Given the description of an element on the screen output the (x, y) to click on. 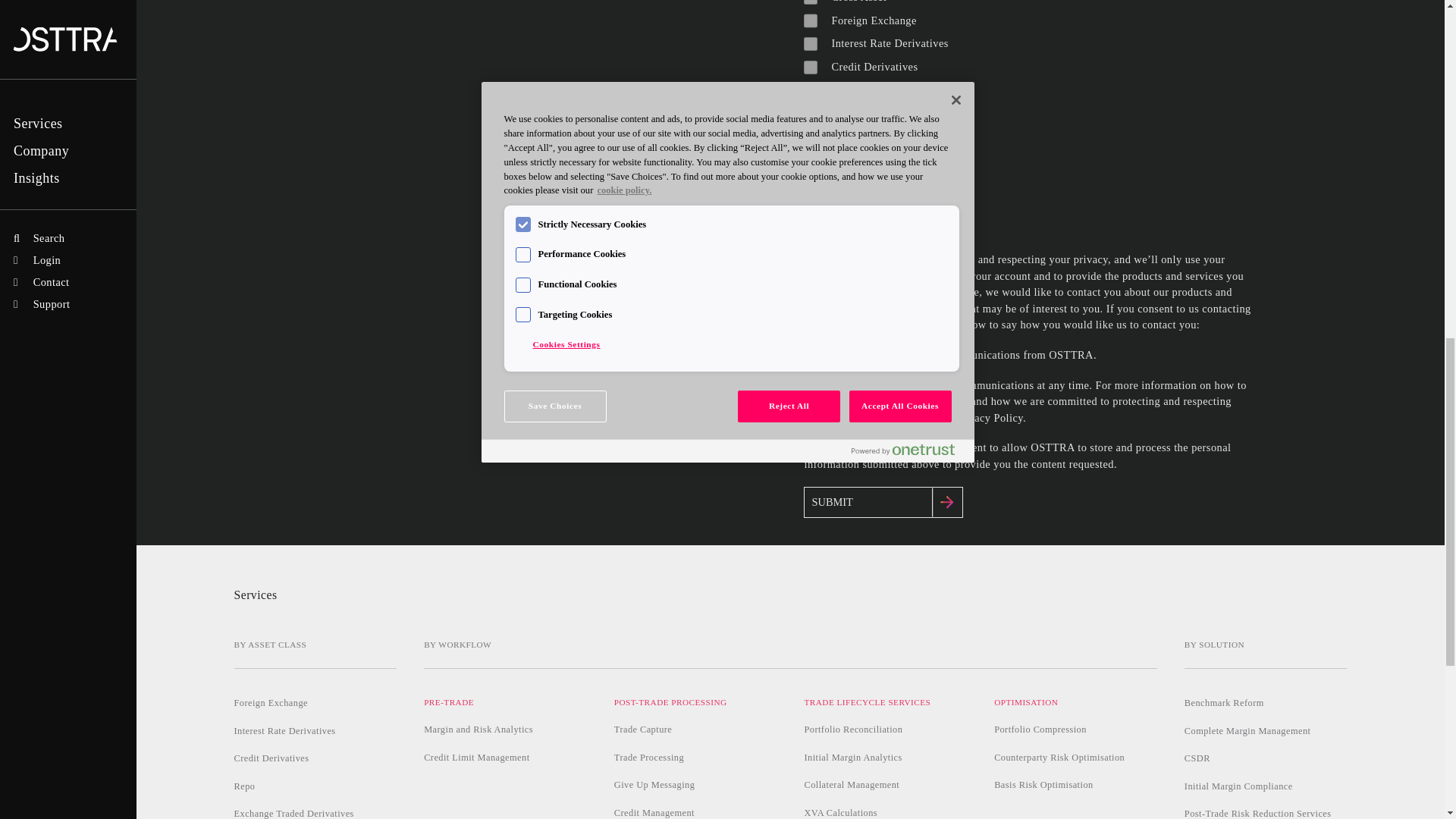
Cross Asset (809, 2)
